Given the description of an element on the screen output the (x, y) to click on. 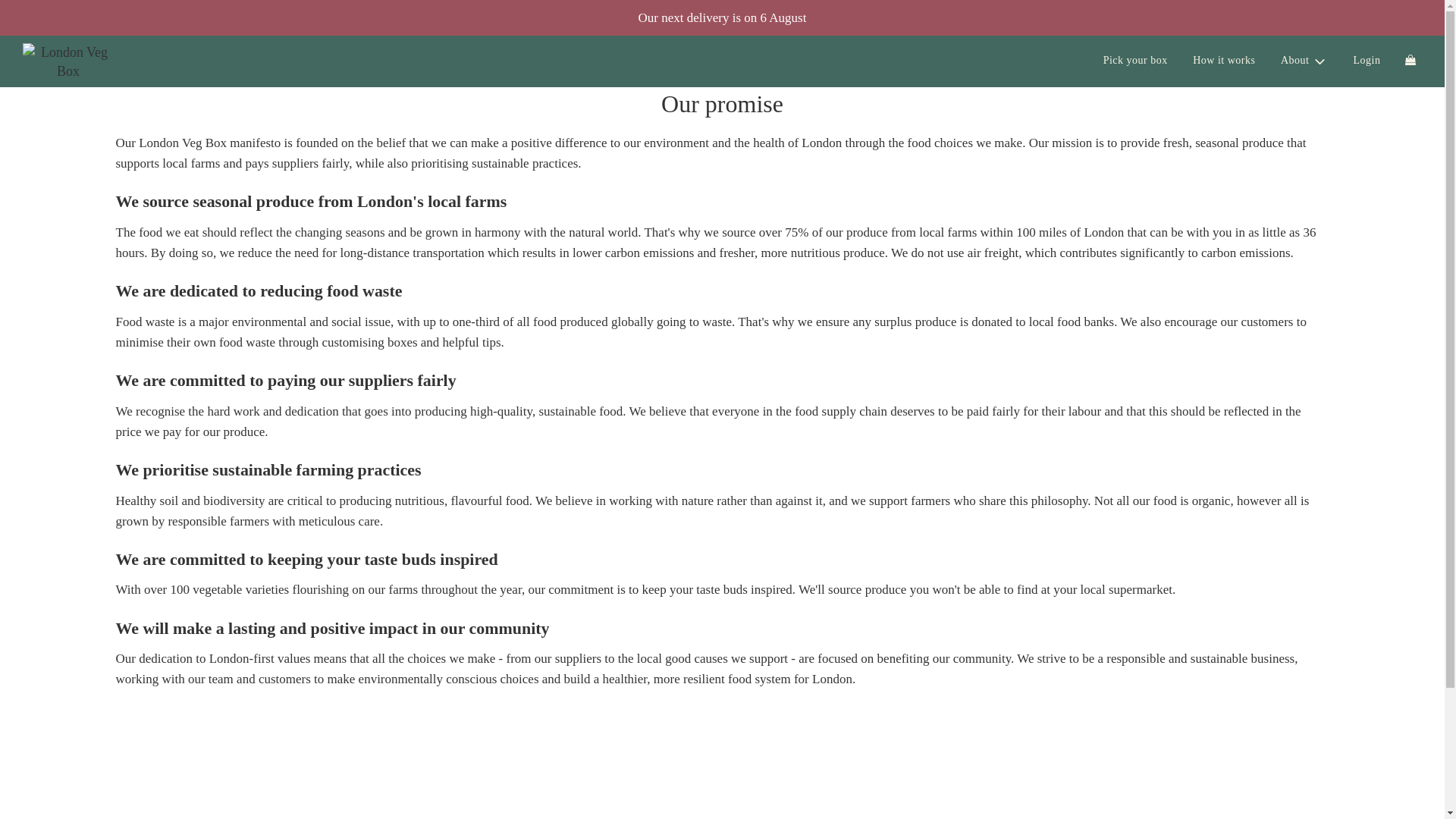
Login (1365, 60)
About (1304, 60)
Our next delivery is on 6 August (722, 17)
Pick your box (1135, 60)
How it works (1223, 60)
